Given the description of an element on the screen output the (x, y) to click on. 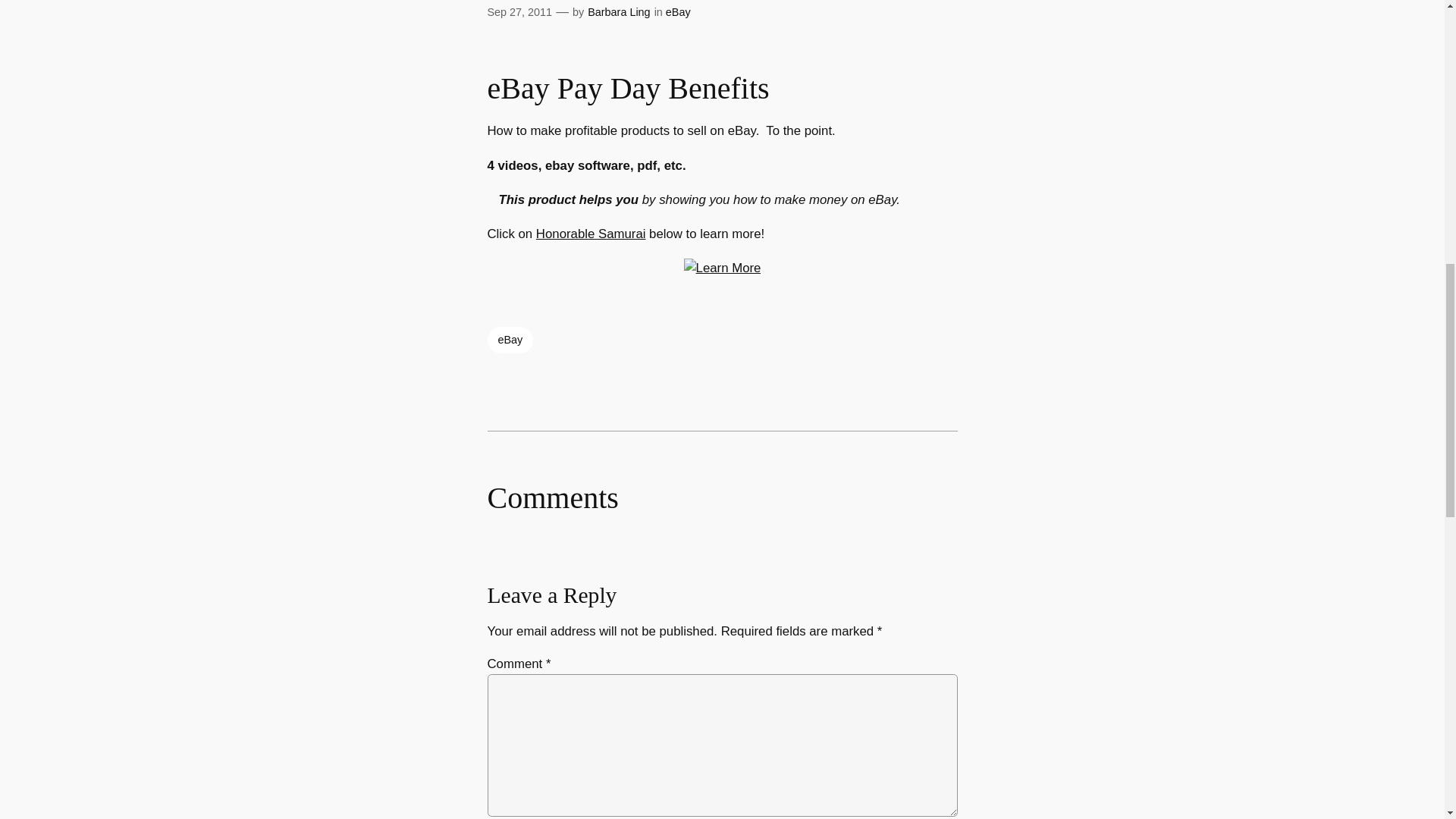
eBay (509, 339)
Honorable Samurai (590, 233)
eBay (677, 11)
Sep 27, 2011 (518, 11)
Barbara Ling (618, 11)
Learn more (722, 268)
